Given the description of an element on the screen output the (x, y) to click on. 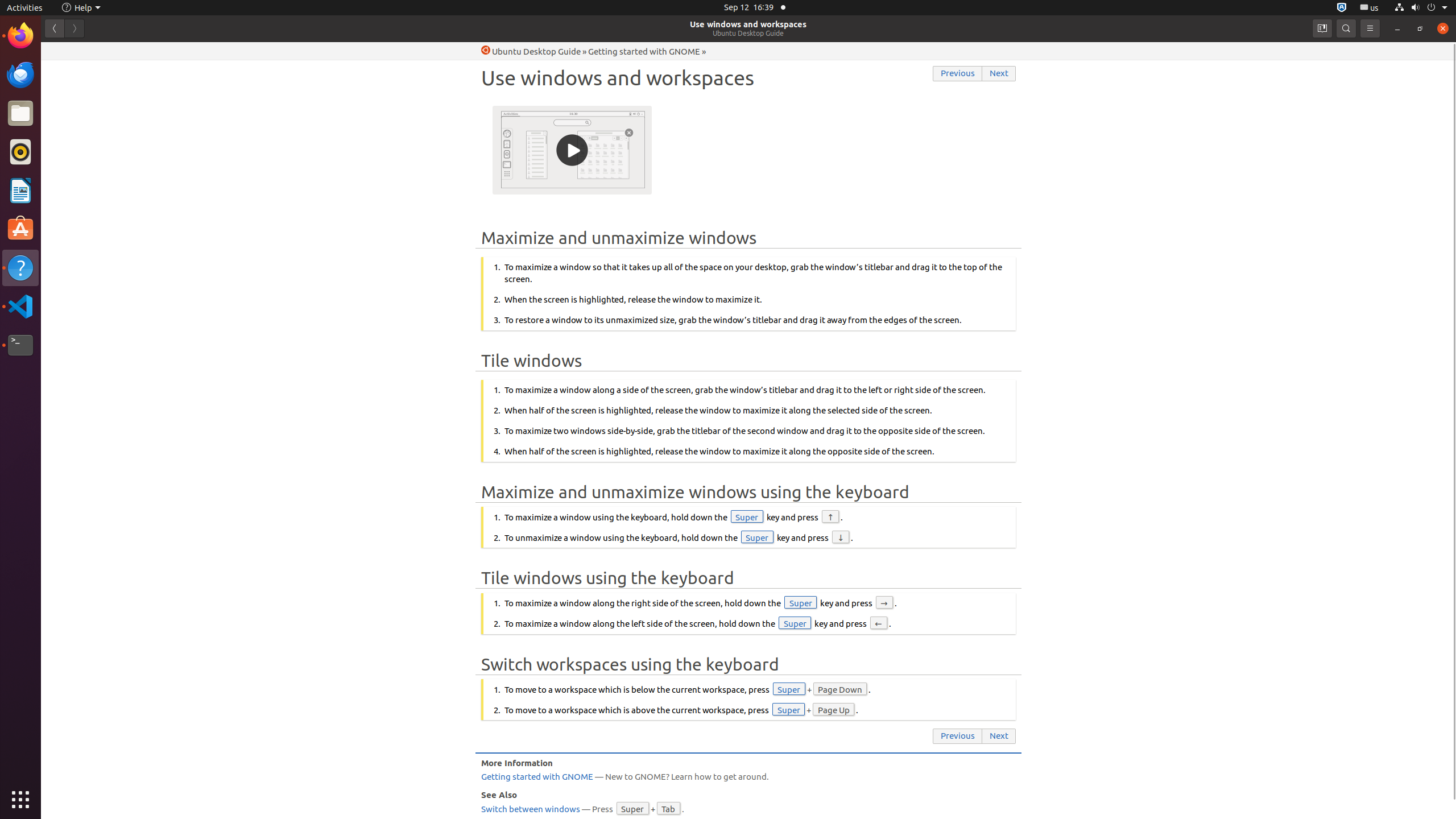
— New to GNOME? Learn how to get around. Element type: list-item (748, 776)
Close Element type: push-button (1442, 27)
Use windows and workspaces Element type: label (748, 24)
Previous Element type: link (957, 73)
